Given the description of an element on the screen output the (x, y) to click on. 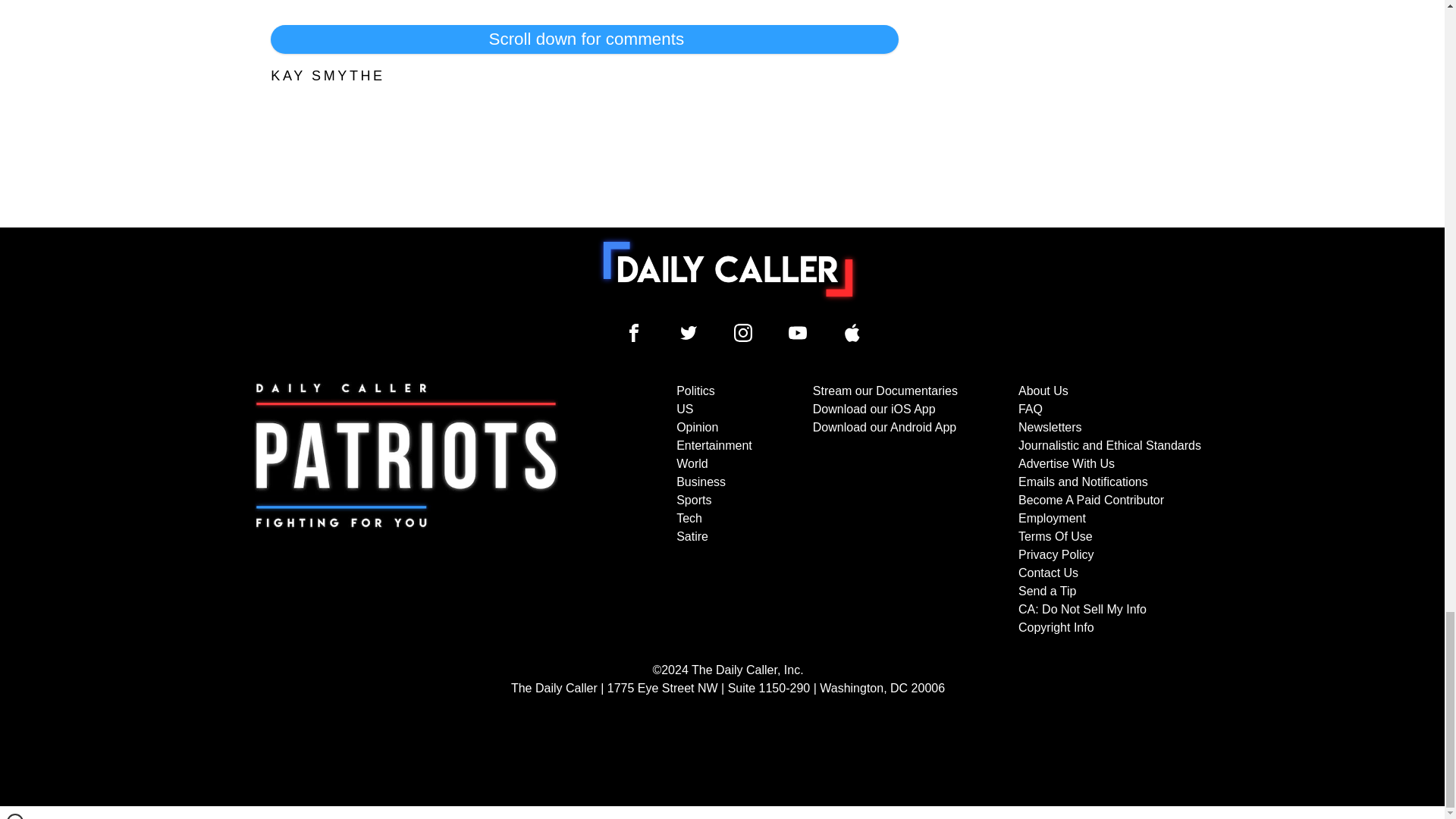
Scroll down for comments (584, 39)
Daily Caller Instagram (742, 332)
Daily Caller YouTube (797, 332)
Daily Caller YouTube (852, 332)
Daily Caller Facebook (633, 332)
Subscribe to The Daily Caller (405, 509)
Daily Caller Twitter (688, 332)
To home page (727, 268)
